Given the description of an element on the screen output the (x, y) to click on. 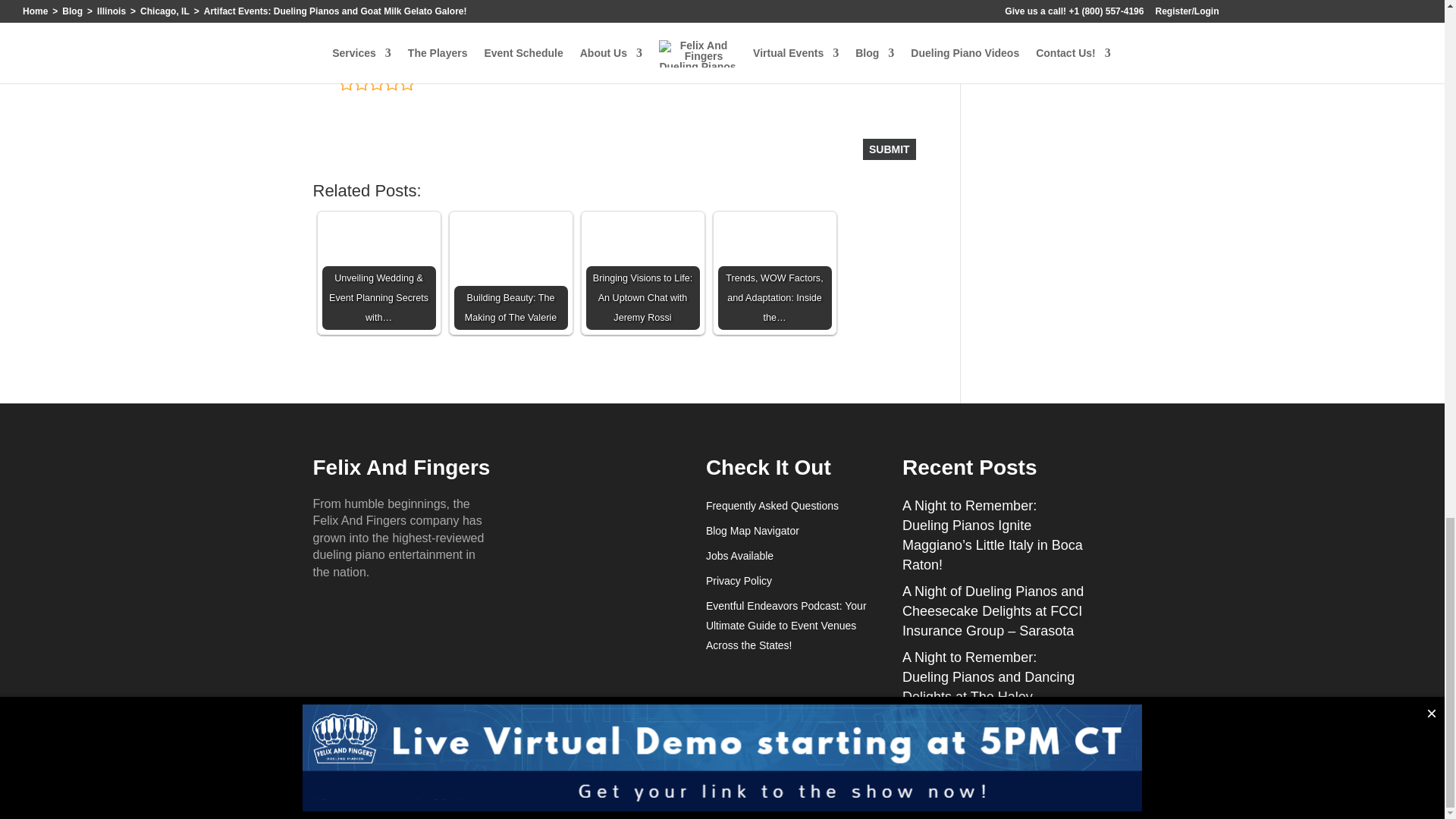
Submit (889, 148)
Bringing Visions to Life: An Uptown Chat with Jeremy Rossi (641, 273)
Building Beauty: The Making of The Valerie (509, 273)
